Given the description of an element on the screen output the (x, y) to click on. 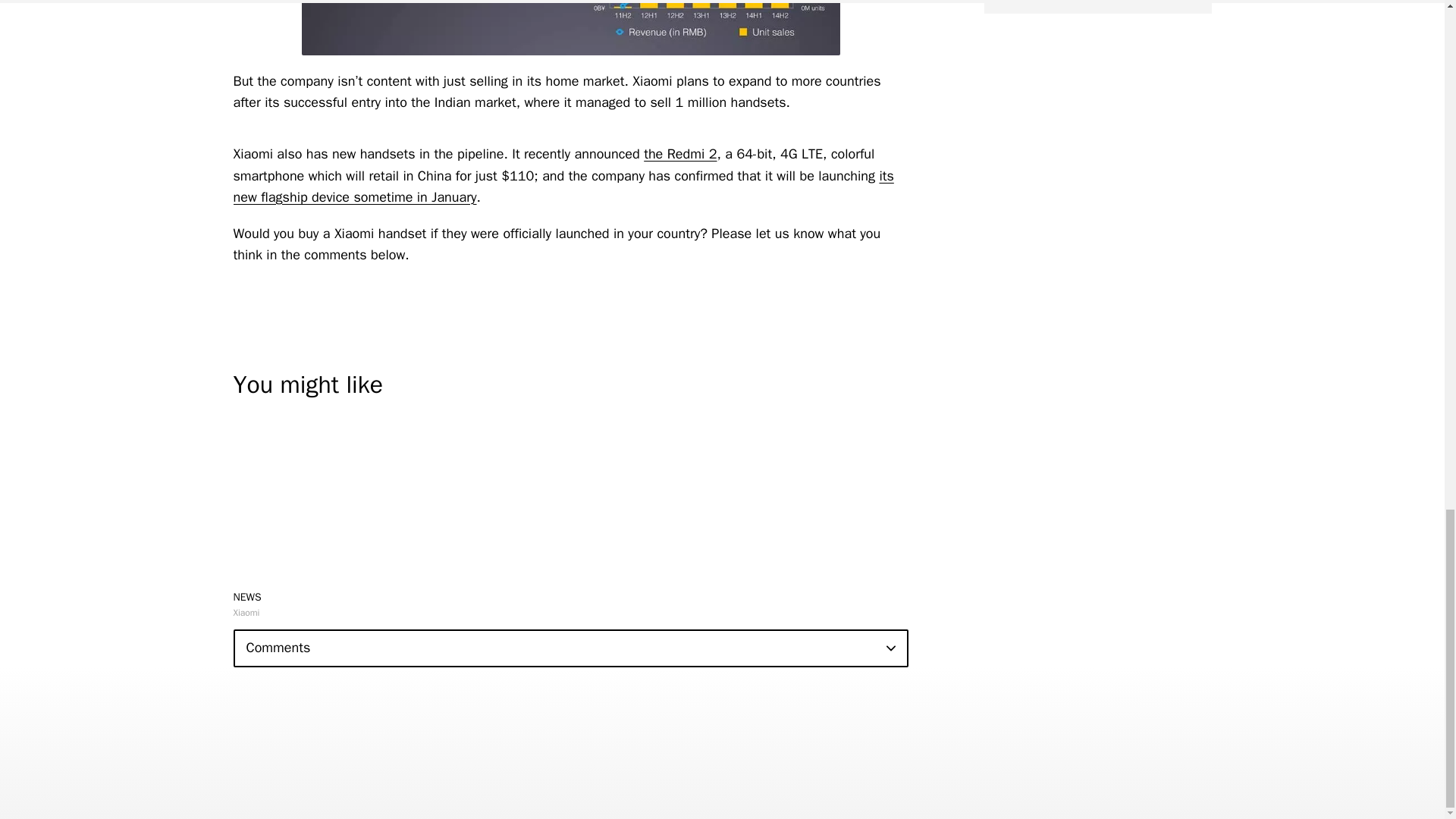
NEWS (247, 596)
the Redmi 2 (679, 153)
xiaomi-2014-sales (570, 27)
Xiaomi (246, 612)
Comments (570, 648)
its new flagship device sometime in January (562, 186)
